Given the description of an element on the screen output the (x, y) to click on. 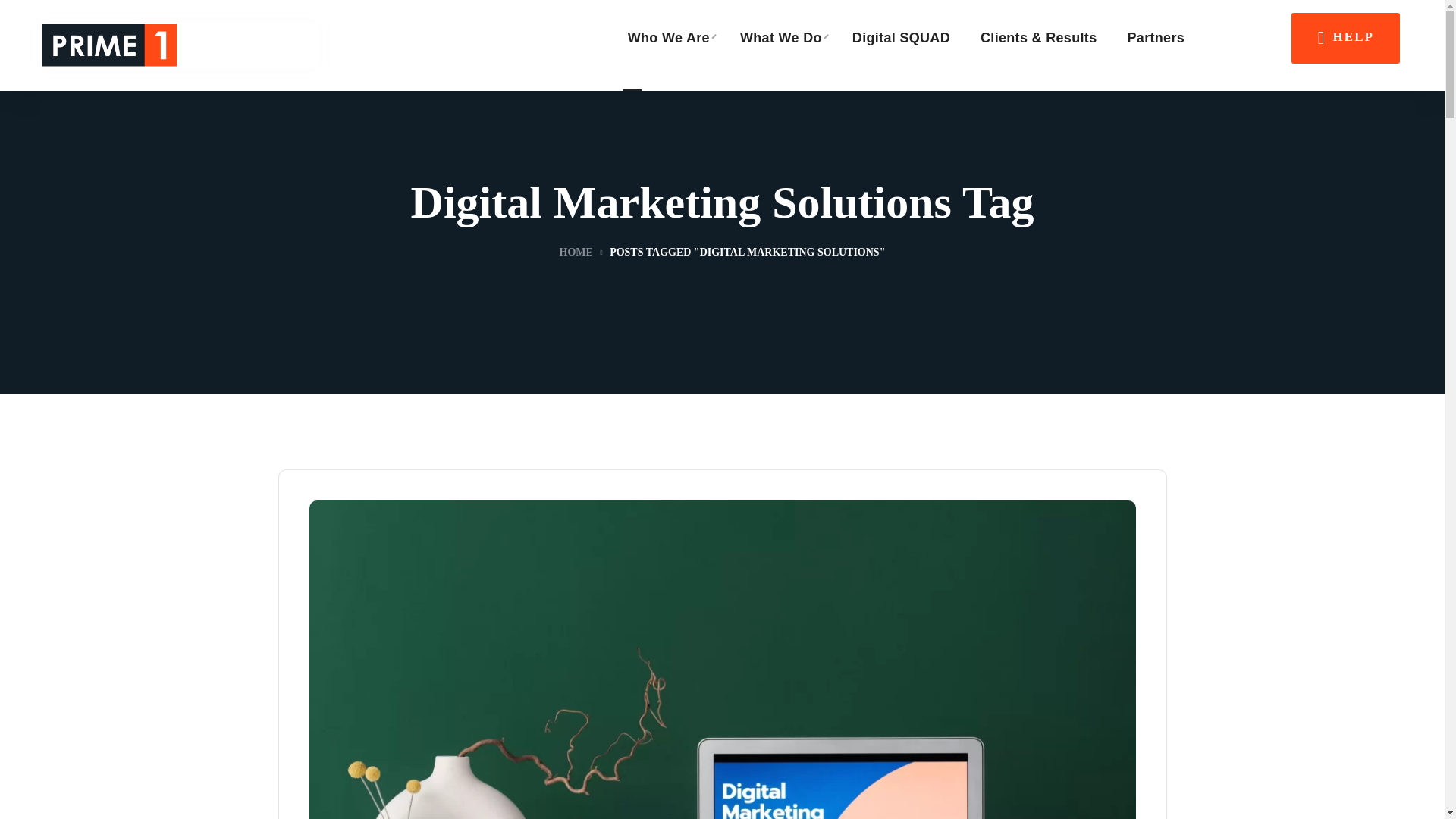
Who We Are (668, 38)
HELP (1345, 38)
What We Do (781, 38)
Partners (1155, 38)
Digital SQUAD (901, 38)
